Given the description of an element on the screen output the (x, y) to click on. 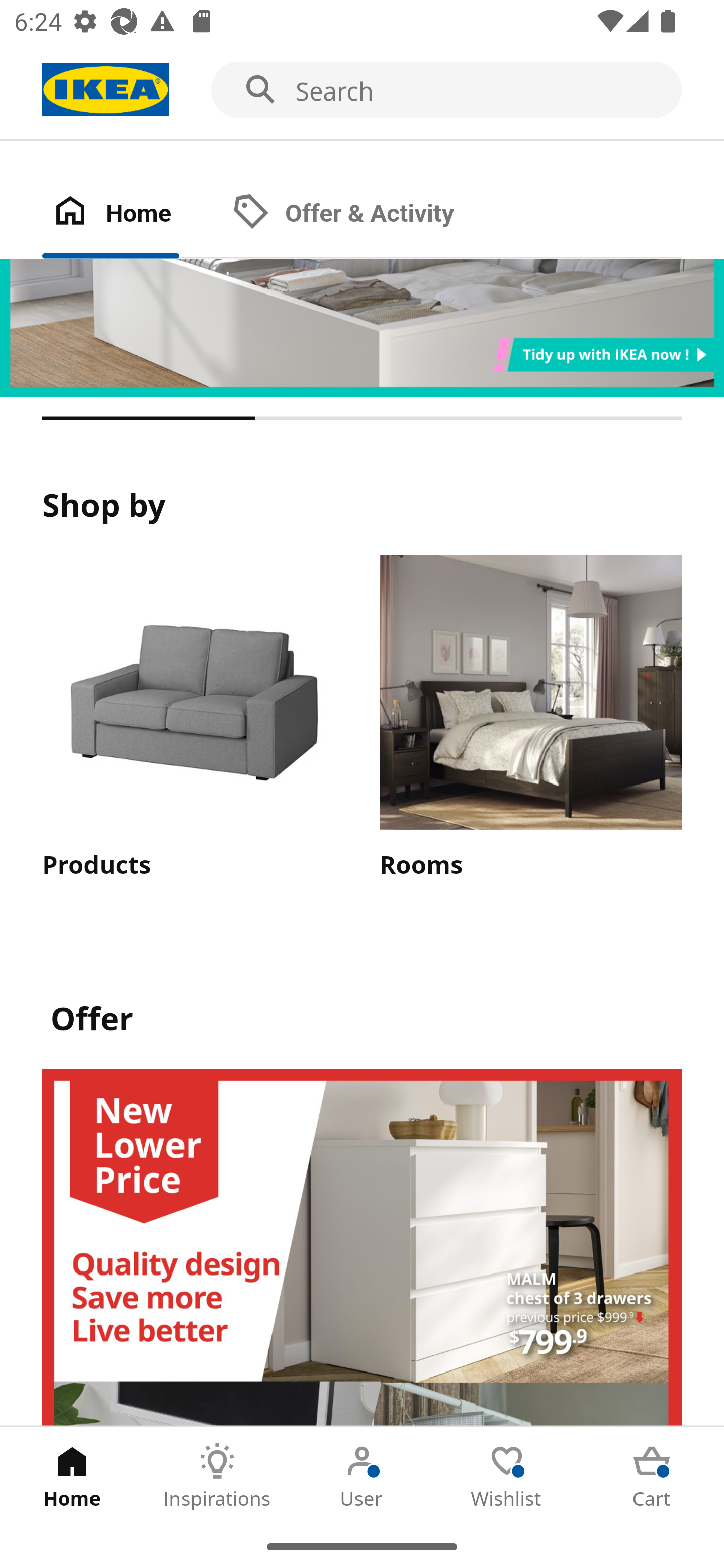
Search (361, 90)
Home
Tab 1 of 2 (131, 213)
Offer & Activity
Tab 2 of 2 (363, 213)
Products (192, 718)
Rooms (530, 718)
Home
Tab 1 of 5 (72, 1476)
Inspirations
Tab 2 of 5 (216, 1476)
User
Tab 3 of 5 (361, 1476)
Wishlist
Tab 4 of 5 (506, 1476)
Cart
Tab 5 of 5 (651, 1476)
